Given the description of an element on the screen output the (x, y) to click on. 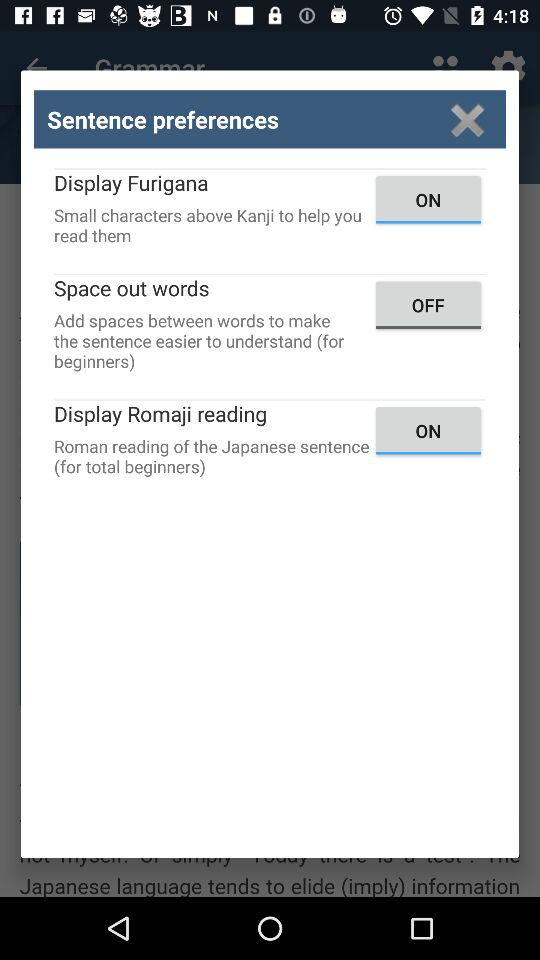
flip until the off (427, 304)
